Given the description of an element on the screen output the (x, y) to click on. 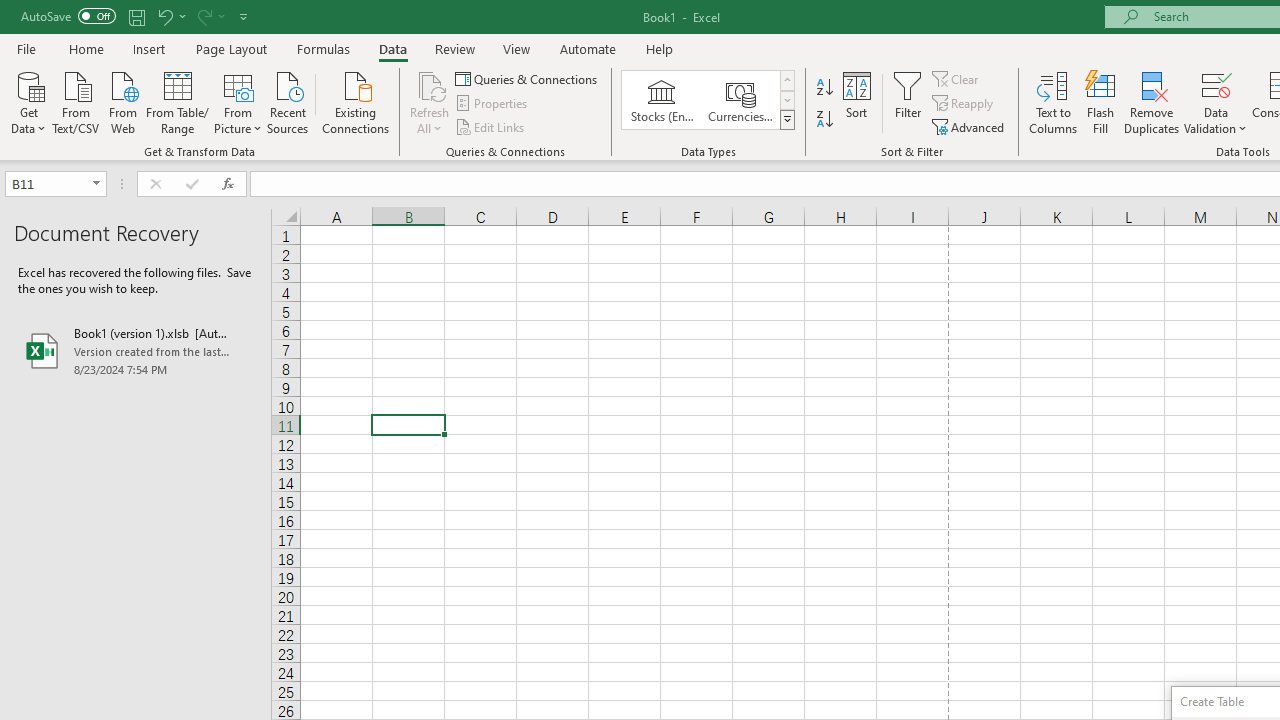
Edit Links (491, 126)
Filter (908, 102)
Row up (786, 79)
Refresh All (429, 102)
Currencies (English) (740, 100)
From Text/CSV (75, 101)
From Picture (238, 101)
Recent Sources (287, 101)
